Given the description of an element on the screen output the (x, y) to click on. 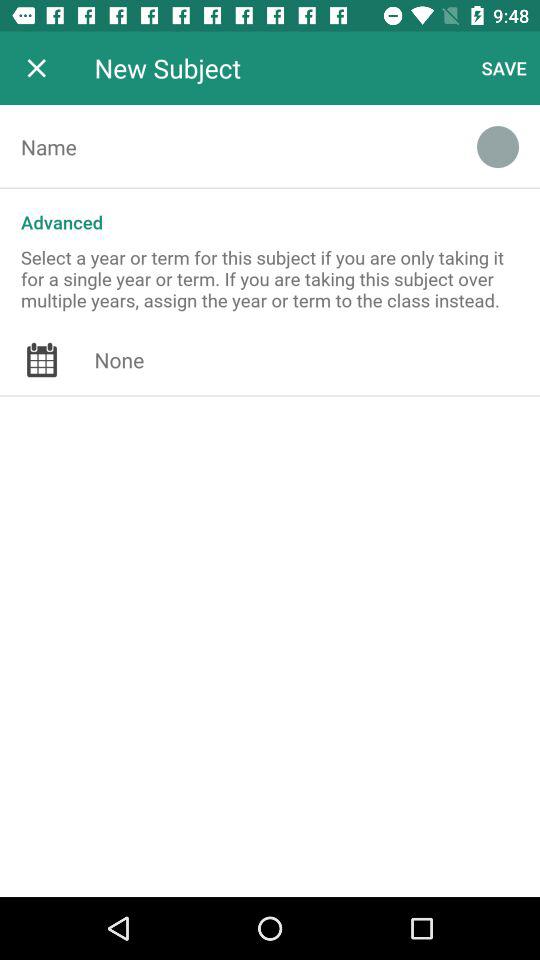
enter name (228, 147)
